Given the description of an element on the screen output the (x, y) to click on. 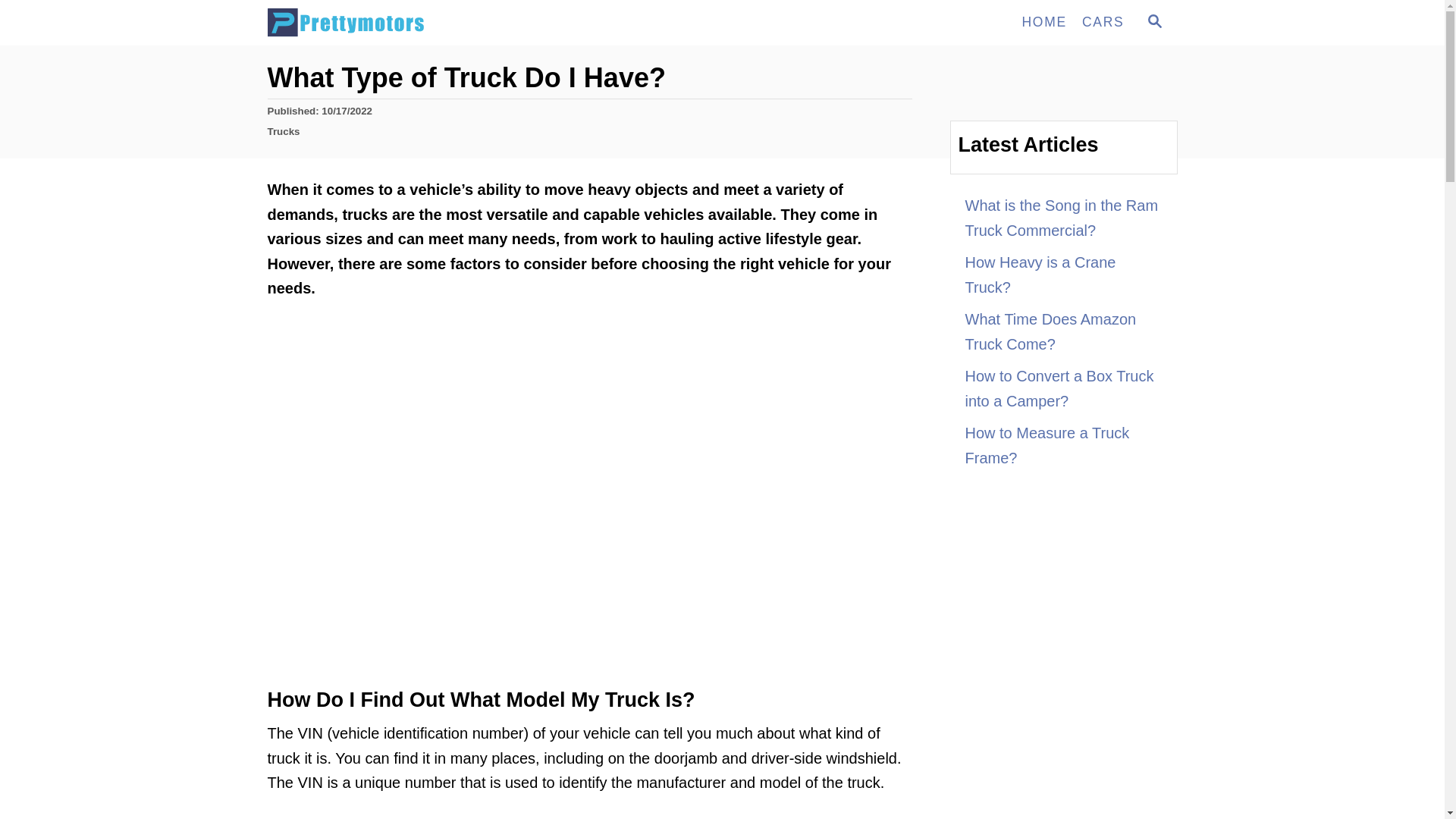
Trucks (282, 131)
MAGNIFYING GLASS (1153, 21)
What is the Song in the Ram Truck Commercial? (1062, 217)
What Time Does Amazon Truck Come? (1062, 331)
How to Measure a Truck Frame? (1153, 22)
How Heavy is a Crane Truck? (1062, 445)
How to Convert a Box Truck into a Camper? (1062, 274)
CARS (1062, 388)
Prettymotors (1103, 22)
HOME (403, 22)
